Given the description of an element on the screen output the (x, y) to click on. 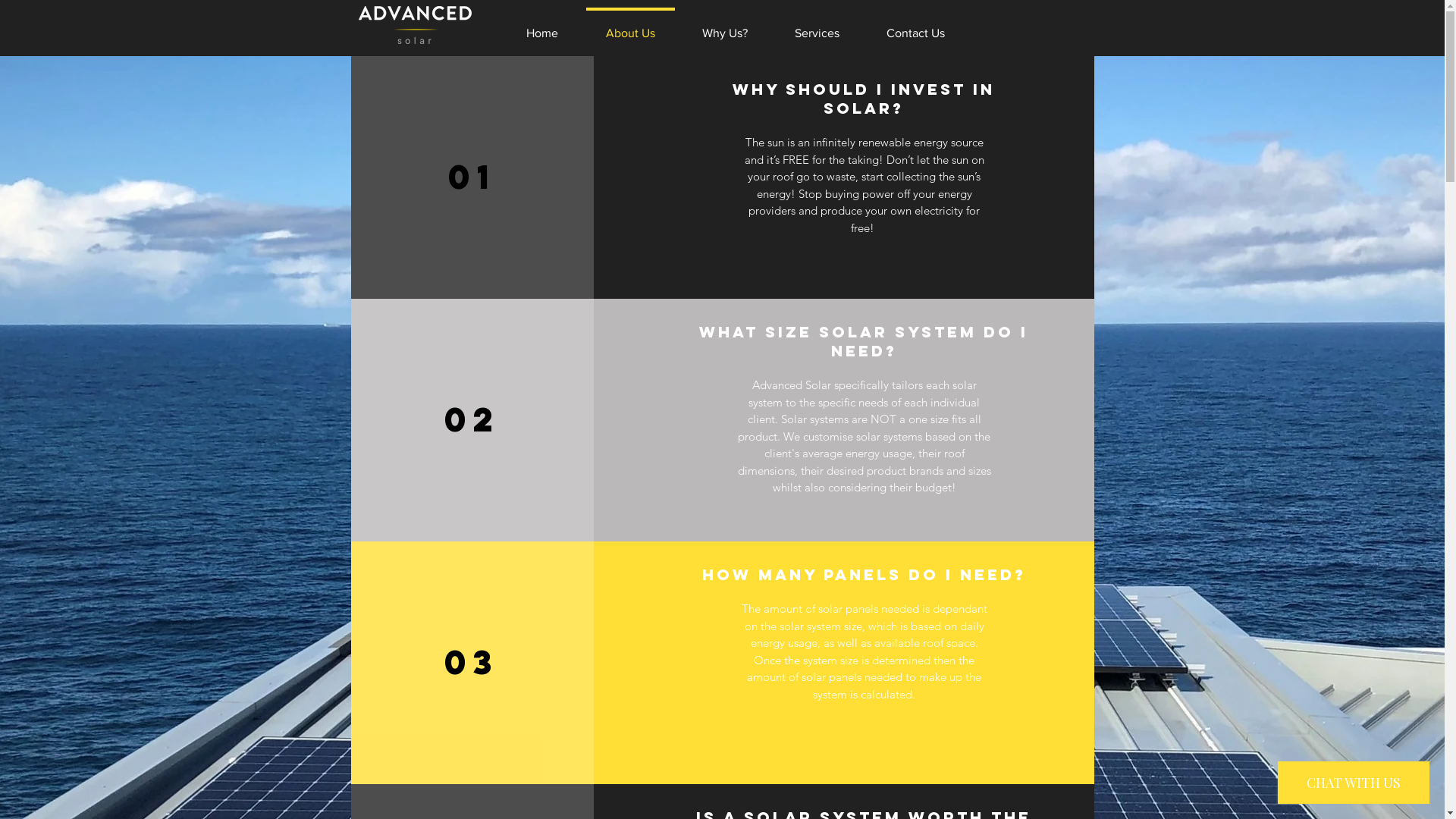
Contact Us Element type: text (915, 26)
Home Element type: text (541, 26)
About Us Element type: text (630, 26)
Services Element type: text (816, 26)
Why Us? Element type: text (723, 26)
